Given the description of an element on the screen output the (x, y) to click on. 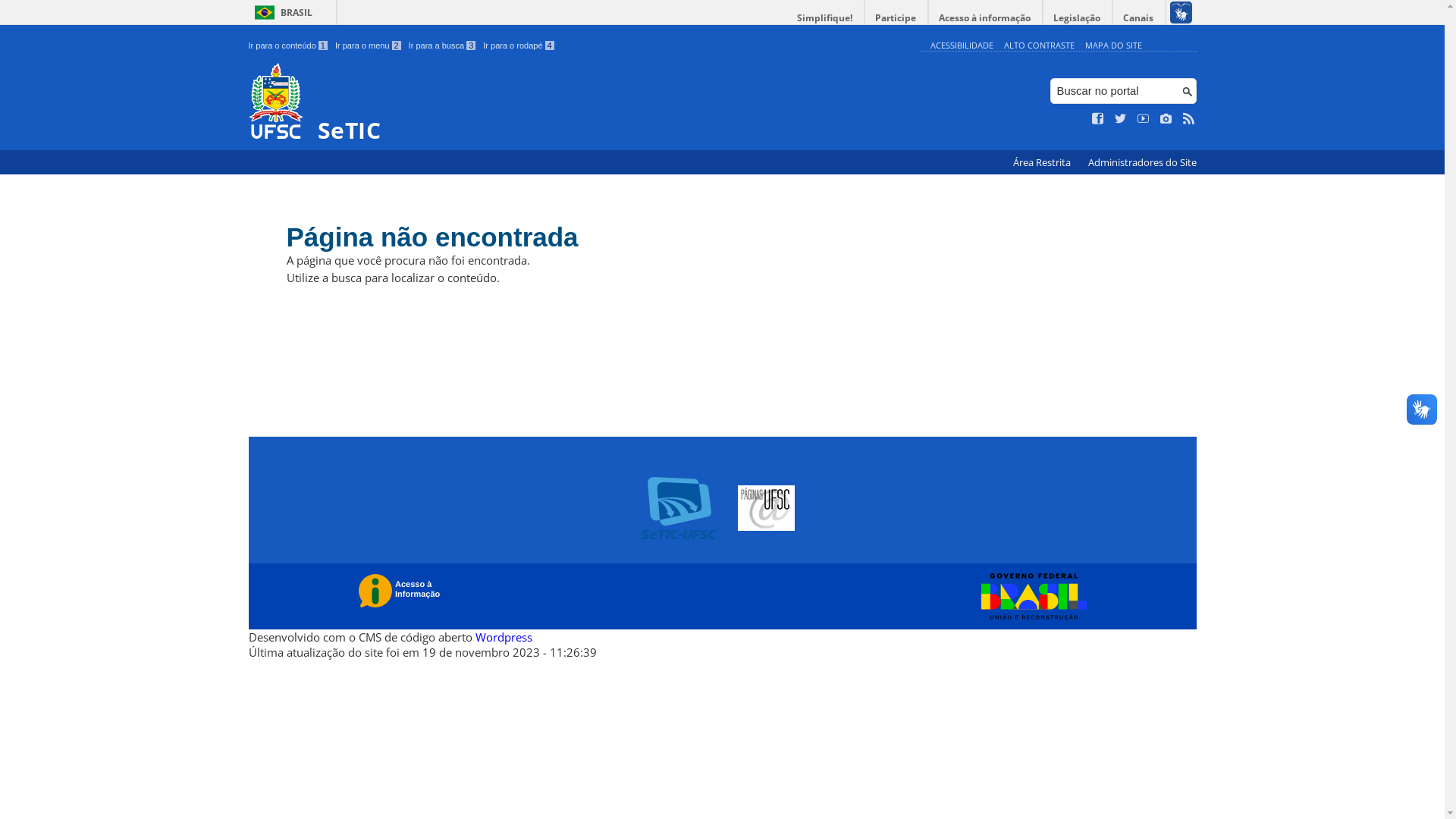
ALTO CONTRASTE Element type: text (1039, 44)
Siga no Twitter Element type: hover (1120, 118)
ACESSIBILIDADE Element type: text (960, 44)
Canais Element type: text (1138, 18)
SeTIC Element type: text (580, 102)
Ir para a busca 3 Element type: text (442, 45)
Wordpress Element type: text (502, 636)
Veja no Instagram Element type: hover (1166, 118)
Governo Federal Element type: hover (1029, 596)
MAPA DO SITE Element type: text (1112, 44)
Simplifique! Element type: text (825, 18)
Administradores do Site Element type: text (1141, 162)
Curta no Facebook Element type: hover (1098, 118)
Ir para o menu 2 Element type: text (368, 45)
Participe Element type: text (895, 18)
BRASIL Element type: text (280, 12)
